Given the description of an element on the screen output the (x, y) to click on. 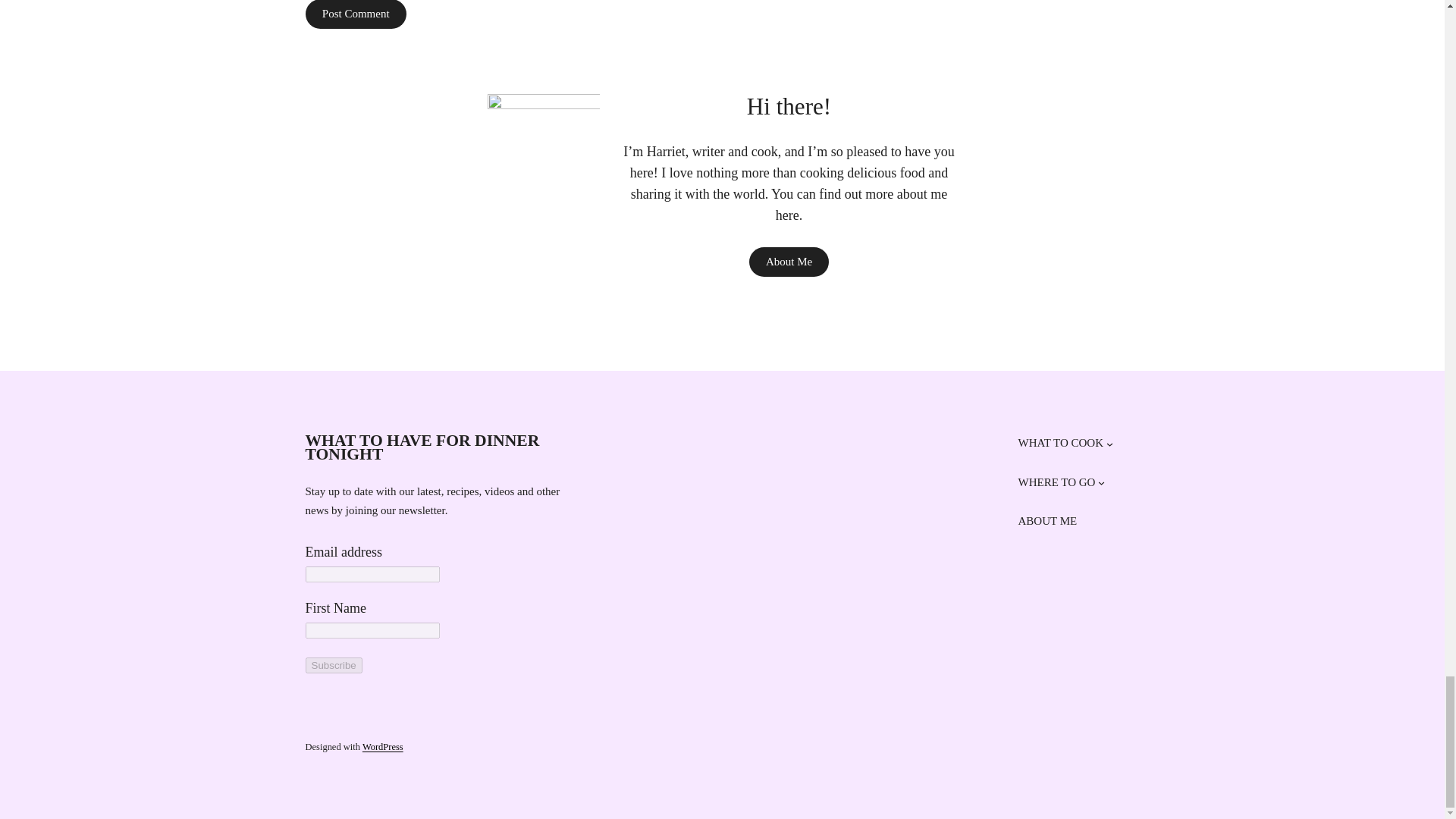
Subscribe (332, 665)
Post Comment (355, 14)
